Given the description of an element on the screen output the (x, y) to click on. 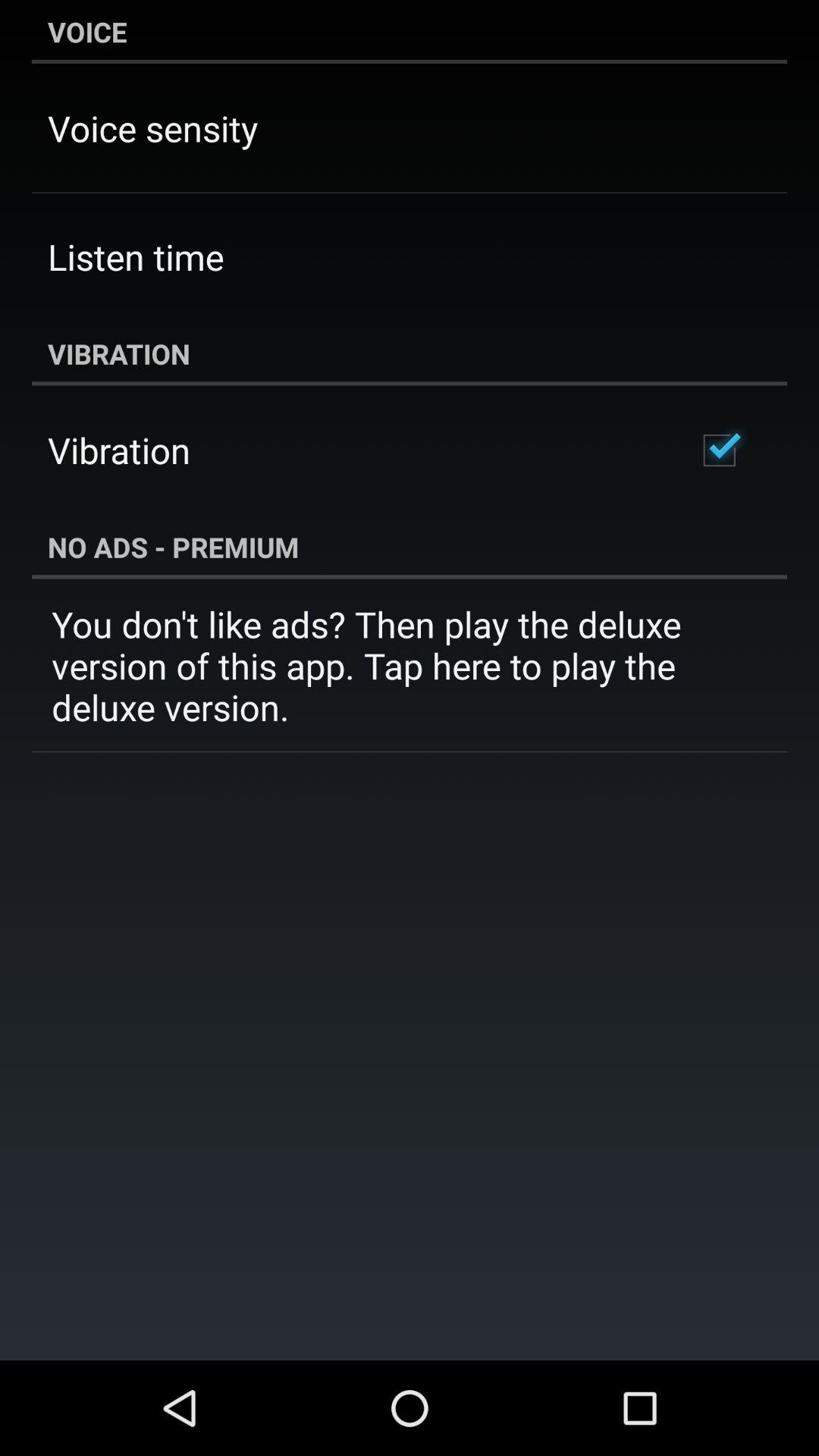
launch the app next to the vibration item (719, 450)
